Given the description of an element on the screen output the (x, y) to click on. 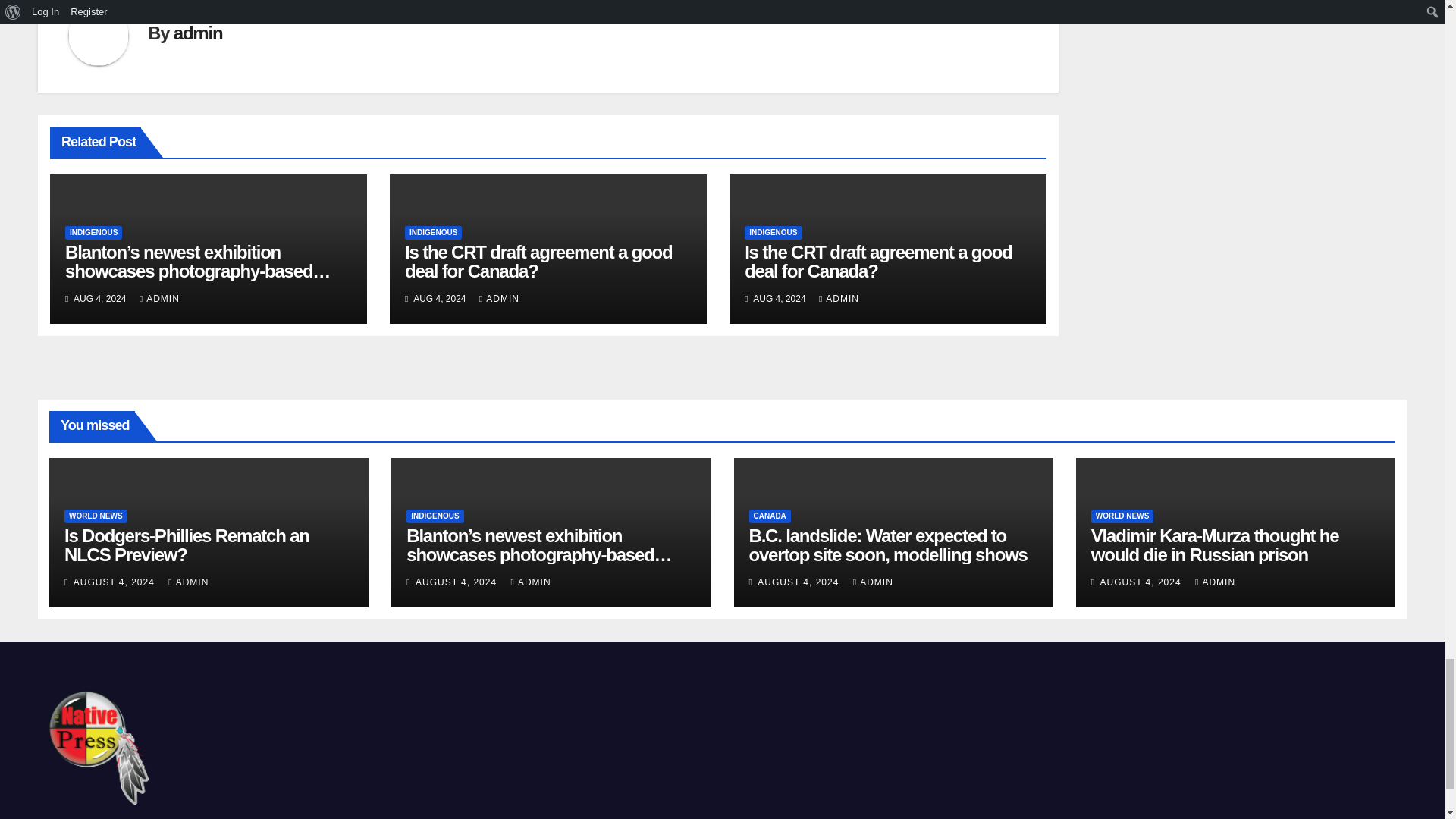
Permalink to: Is Dodgers-Phillies Rematch an NLCS Preview? (186, 545)
